Given the description of an element on the screen output the (x, y) to click on. 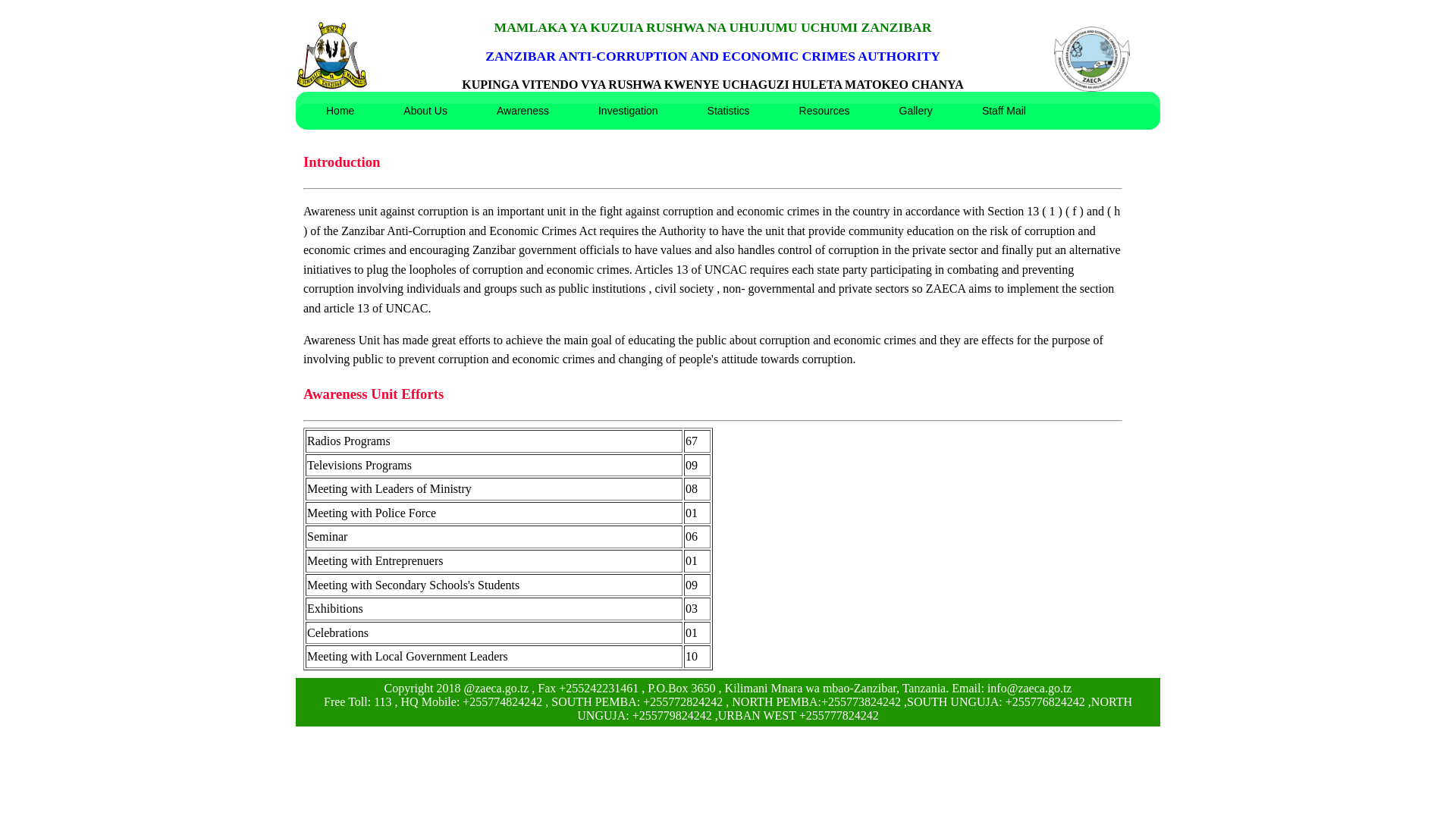
About Us (424, 110)
Resources (824, 110)
Home (339, 110)
Gallery (916, 110)
Awareness (522, 110)
Investigation (628, 110)
Staff Mail (1003, 110)
Statistics (728, 110)
